Given the description of an element on the screen output the (x, y) to click on. 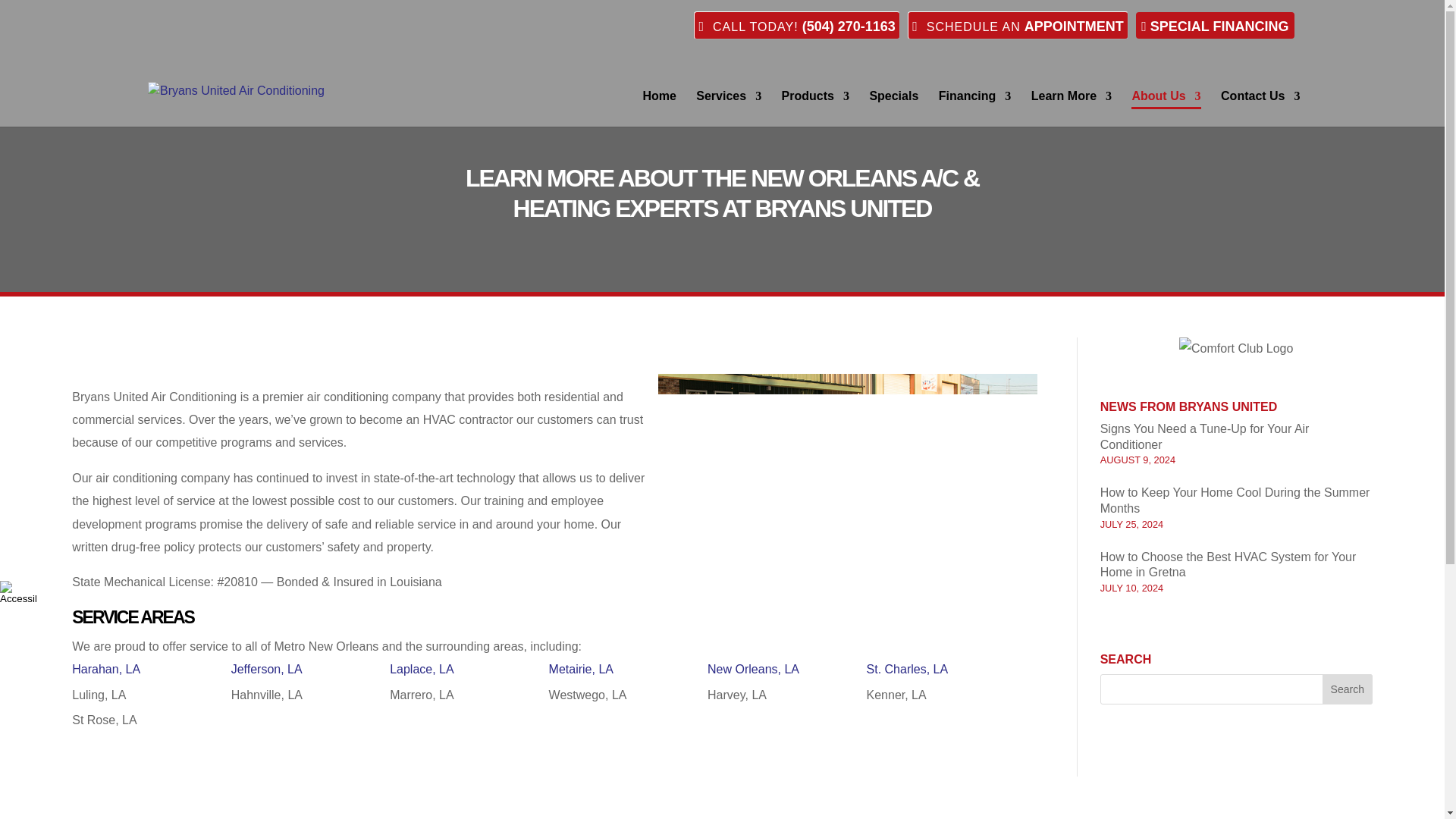
SCHEDULE AN APPOINTMENT (1156, 25)
Specials (893, 108)
Search (1347, 689)
Financing Available. (1214, 25)
Accessibility Helper sidebar (18, 592)
About Us (1165, 108)
Home (658, 108)
Services (728, 108)
Schedule an Appointment (1017, 25)
Products (814, 108)
